Given the description of an element on the screen output the (x, y) to click on. 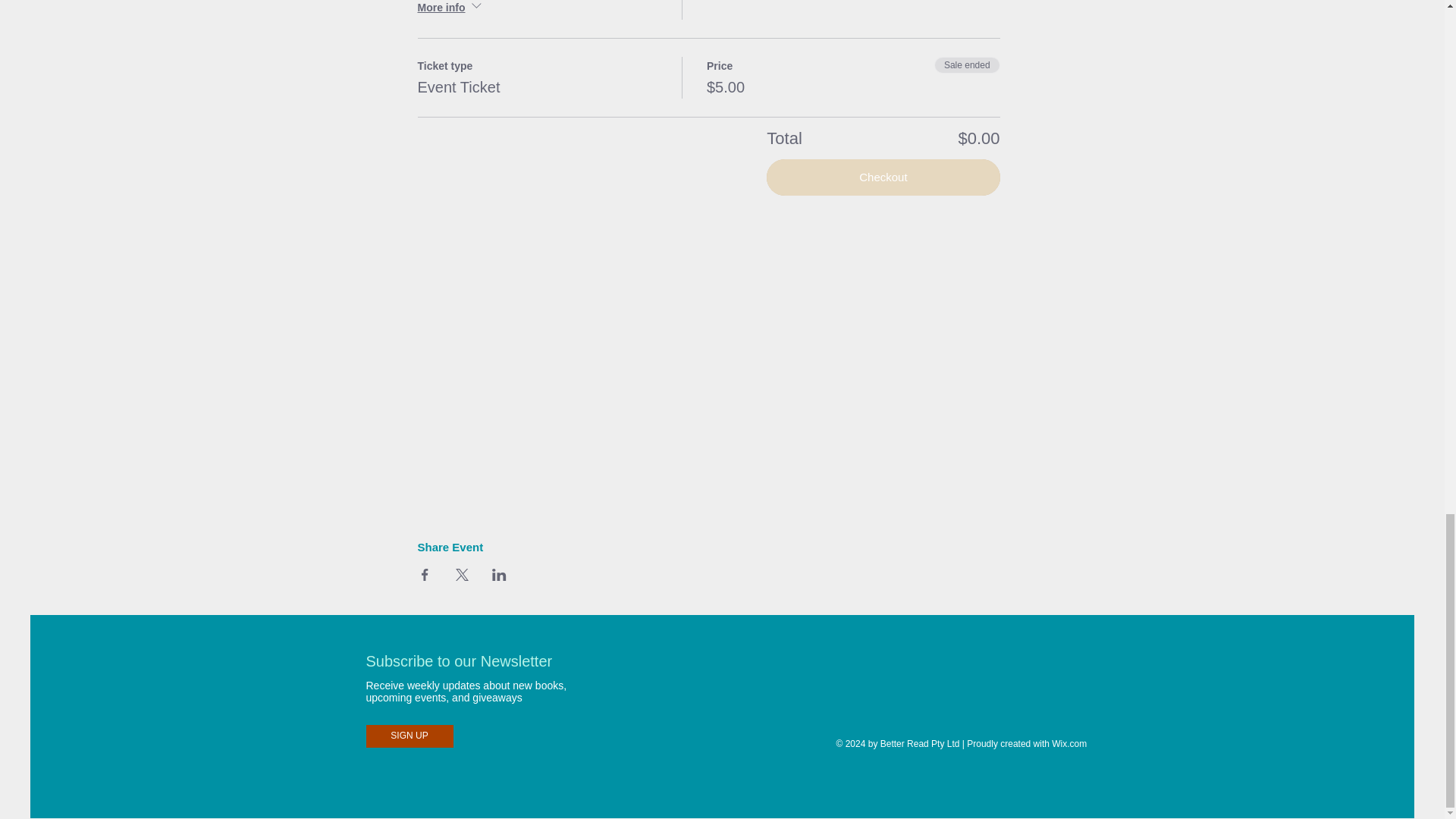
SIGN UP (408, 735)
More info (449, 9)
Wix.com (1068, 743)
Checkout (882, 176)
